Given the description of an element on the screen output the (x, y) to click on. 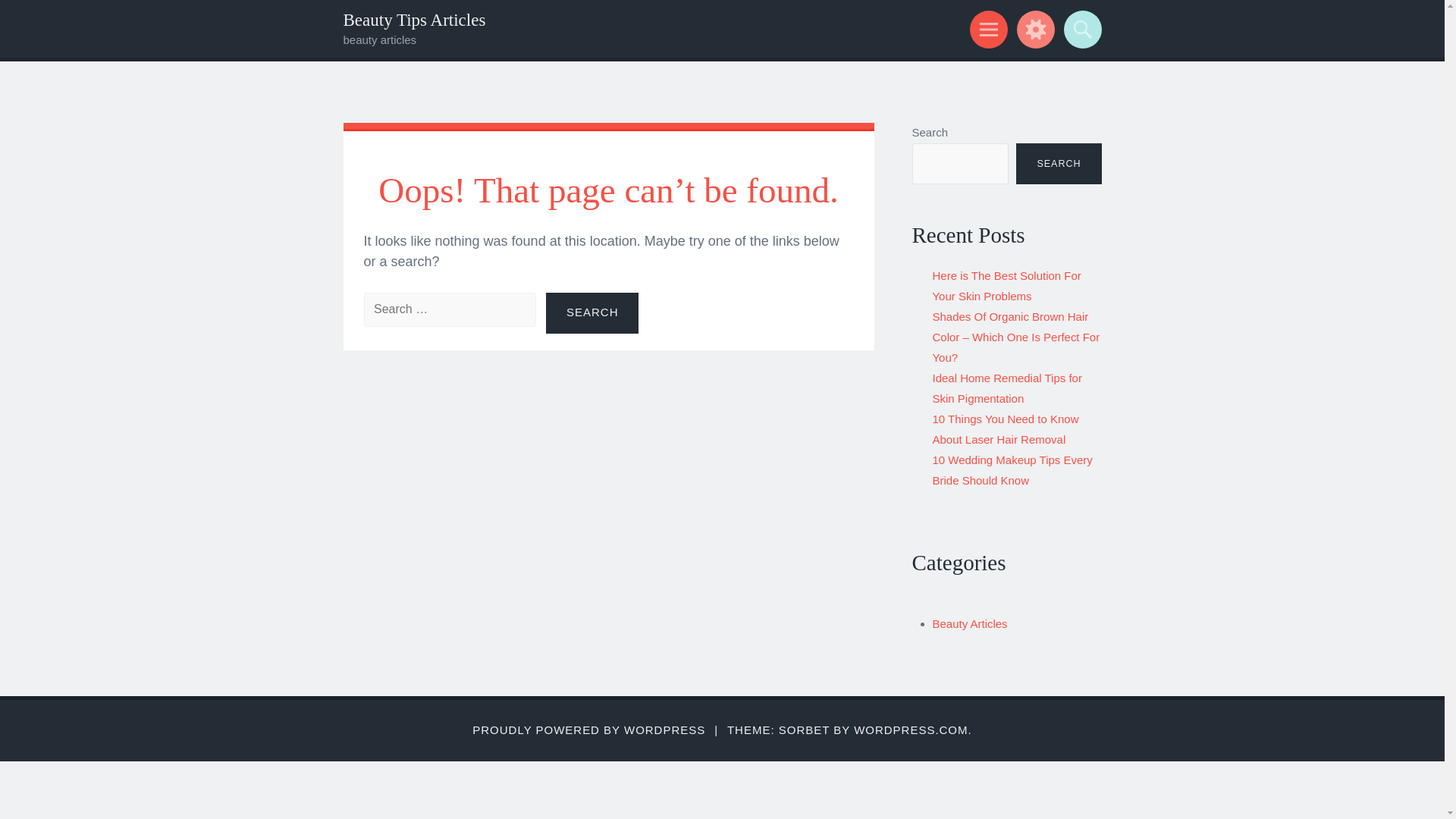
10 Things You Need to Know About Laser Hair Removal (1005, 428)
Search (592, 312)
Beauty Tips Articles (413, 19)
PROUDLY POWERED BY WORDPRESS (587, 729)
Search (1080, 29)
Search (592, 312)
10 Wedding Makeup Tips Every Bride Should Know (1013, 469)
WORDPRESS.COM (910, 729)
Widgets (1032, 29)
Search (592, 312)
